Given the description of an element on the screen output the (x, y) to click on. 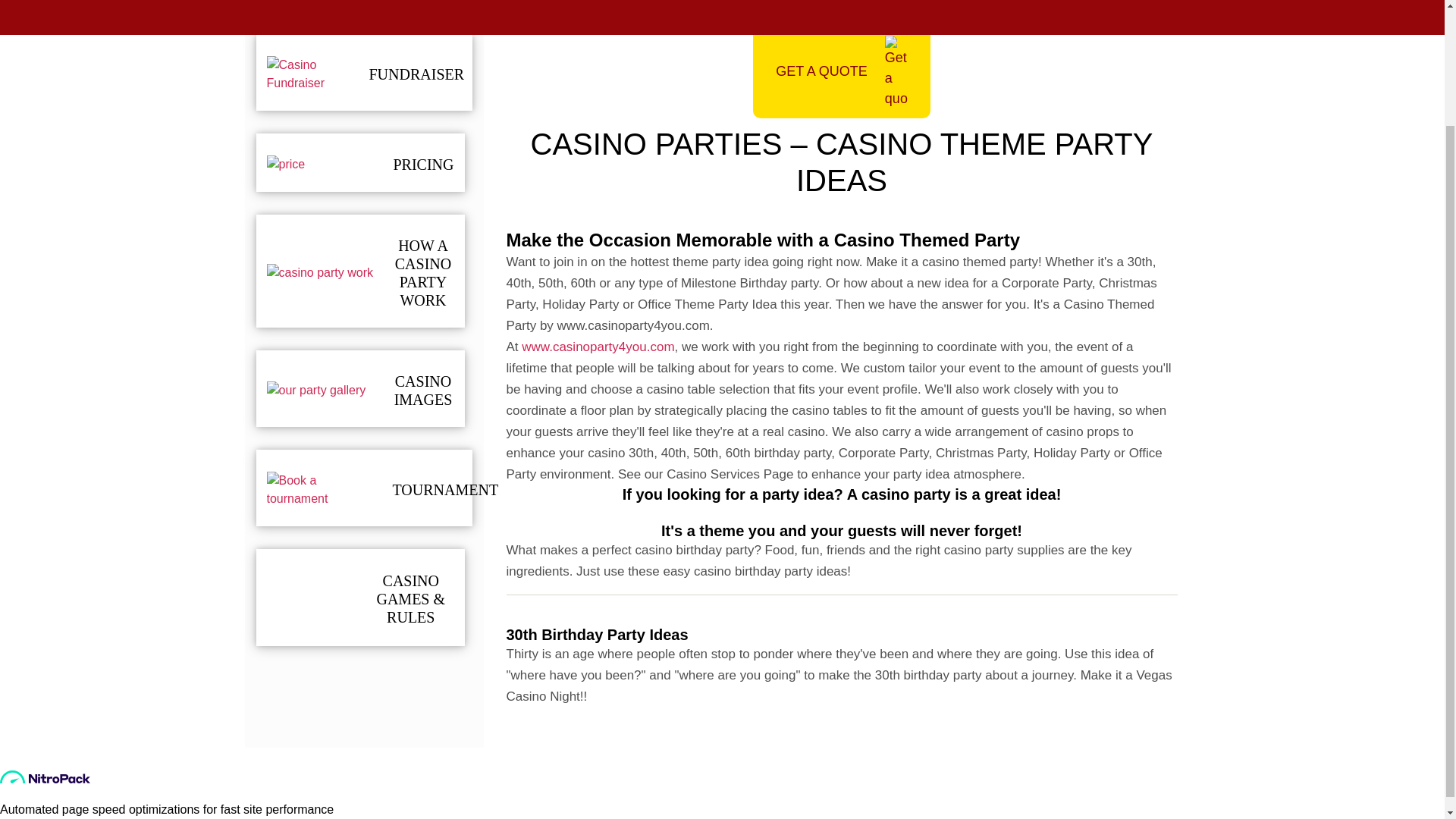
HOW A CASINO PARTY WORK (423, 272)
GET A QUOTE (841, 71)
CASINO IMAGES (423, 390)
FUNDRAISER (416, 74)
TOURNAMENT (446, 489)
www.casinoparty4you.com (597, 346)
PRICING (422, 164)
